Given the description of an element on the screen output the (x, y) to click on. 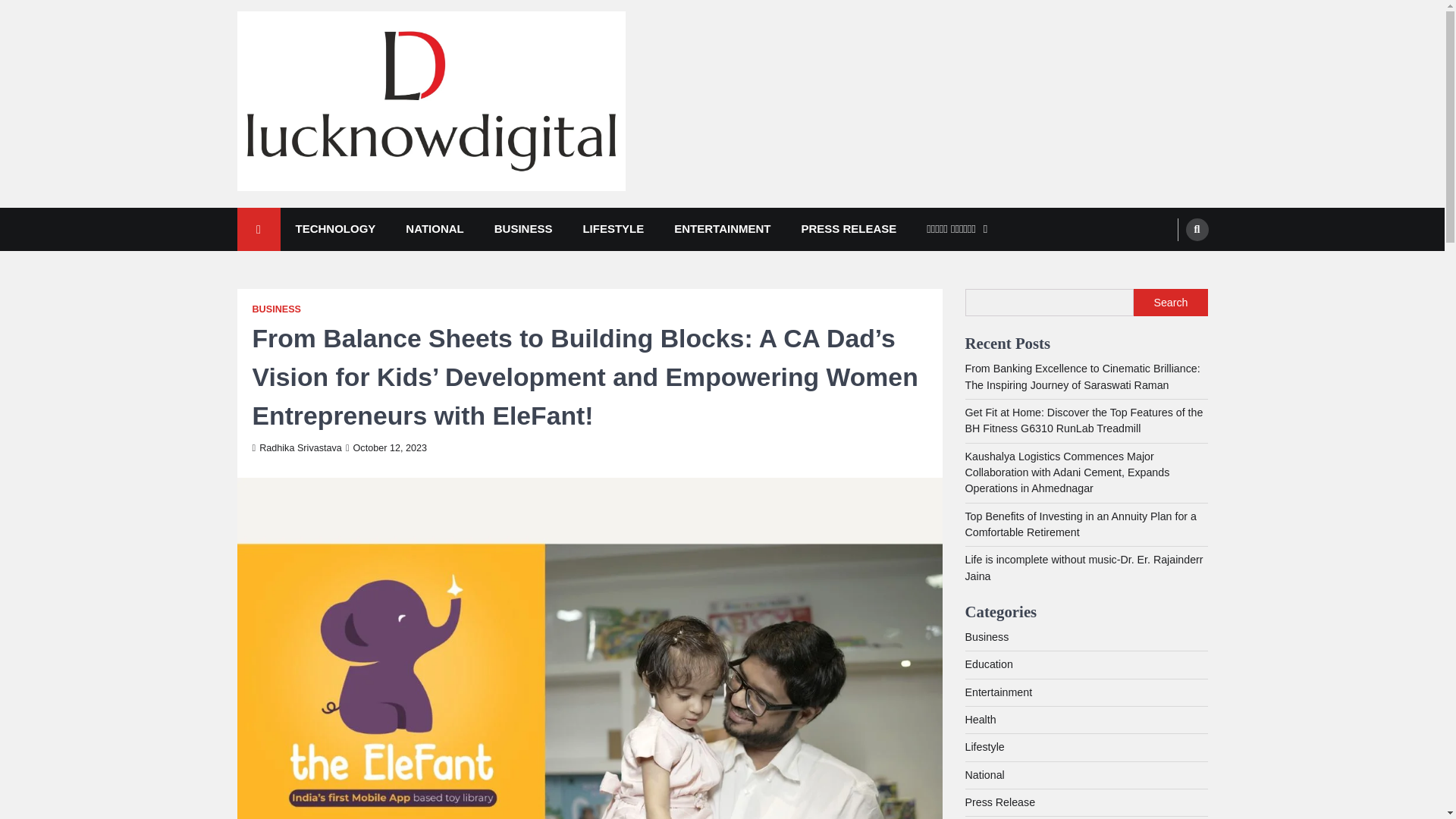
Lucknow Digital (327, 212)
ENTERTAINMENT (722, 229)
TECHNOLOGY (336, 229)
Search (1197, 229)
BUSINESS (276, 309)
Radhika Srivastava (295, 448)
Search (1168, 265)
PRESS RELEASE (848, 229)
Life is incomplete without music-Dr. Er. Rajainderr Jaina (1082, 567)
NATIONAL (434, 229)
LIFESTYLE (613, 229)
